Given the description of an element on the screen output the (x, y) to click on. 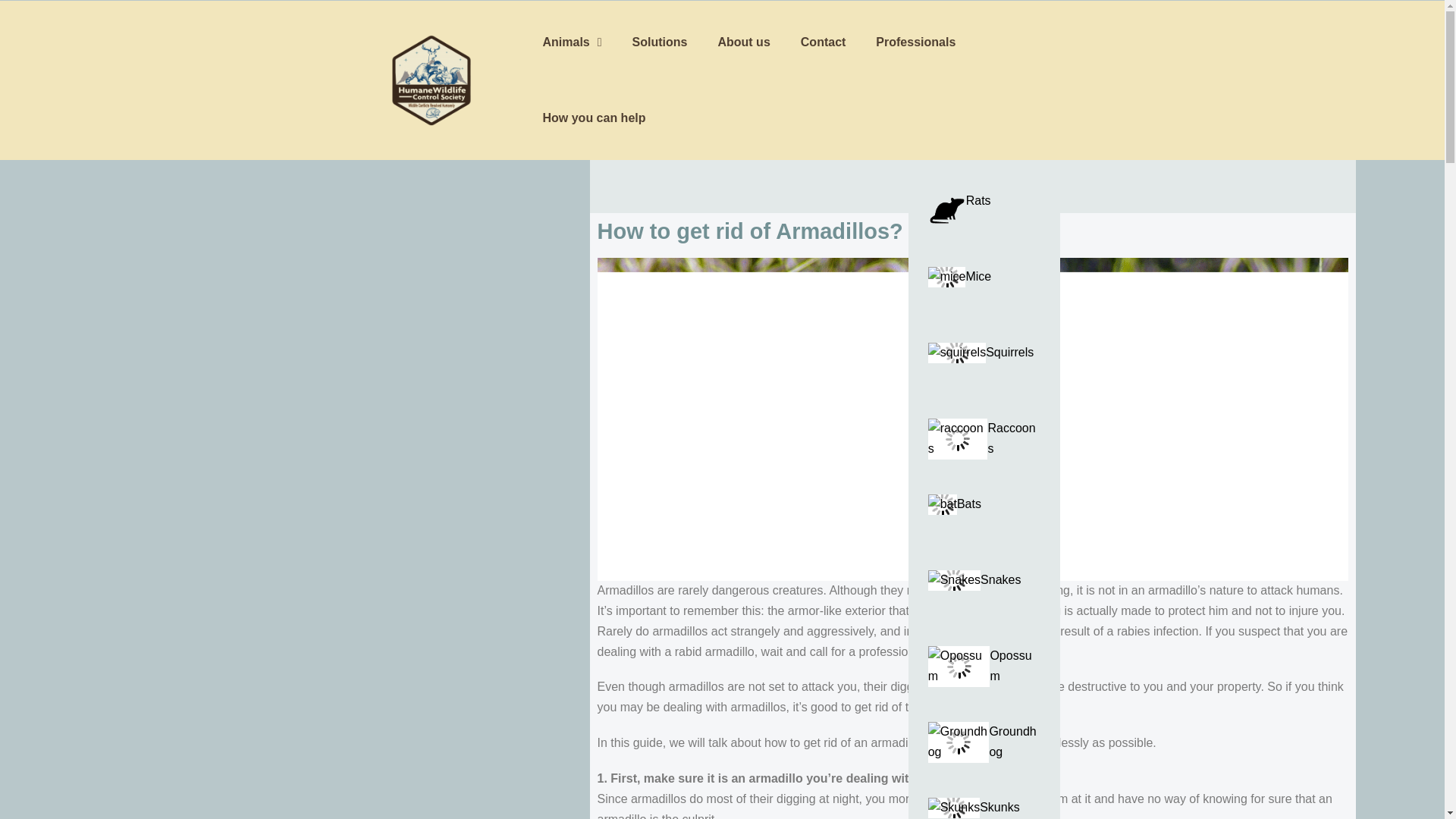
Hwcsl (430, 79)
About us (742, 42)
Skip to content (15, 7)
Professionals (915, 42)
How you can help (594, 118)
Solutions (660, 42)
Animals (571, 42)
Contact (823, 42)
